Given the description of an element on the screen output the (x, y) to click on. 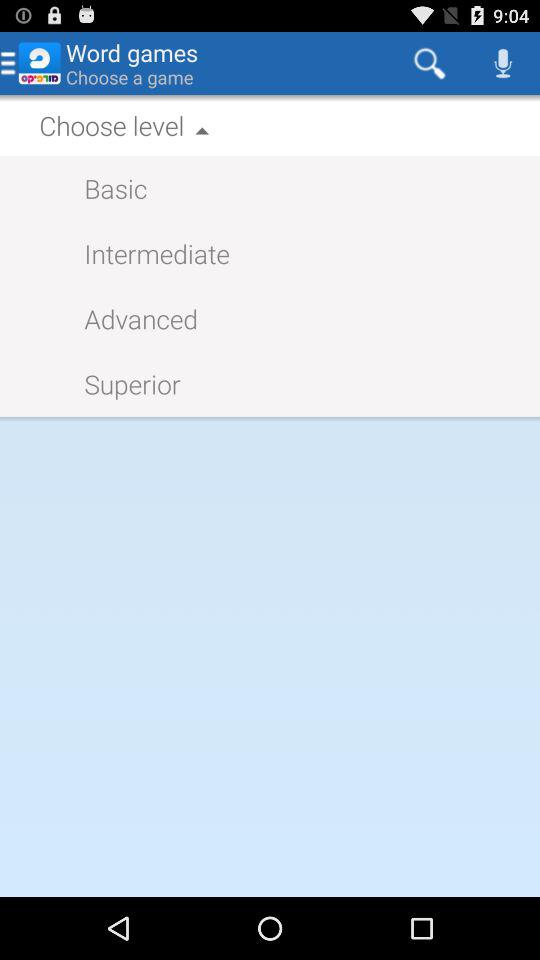
select basic icon (105, 187)
